Given the description of an element on the screen output the (x, y) to click on. 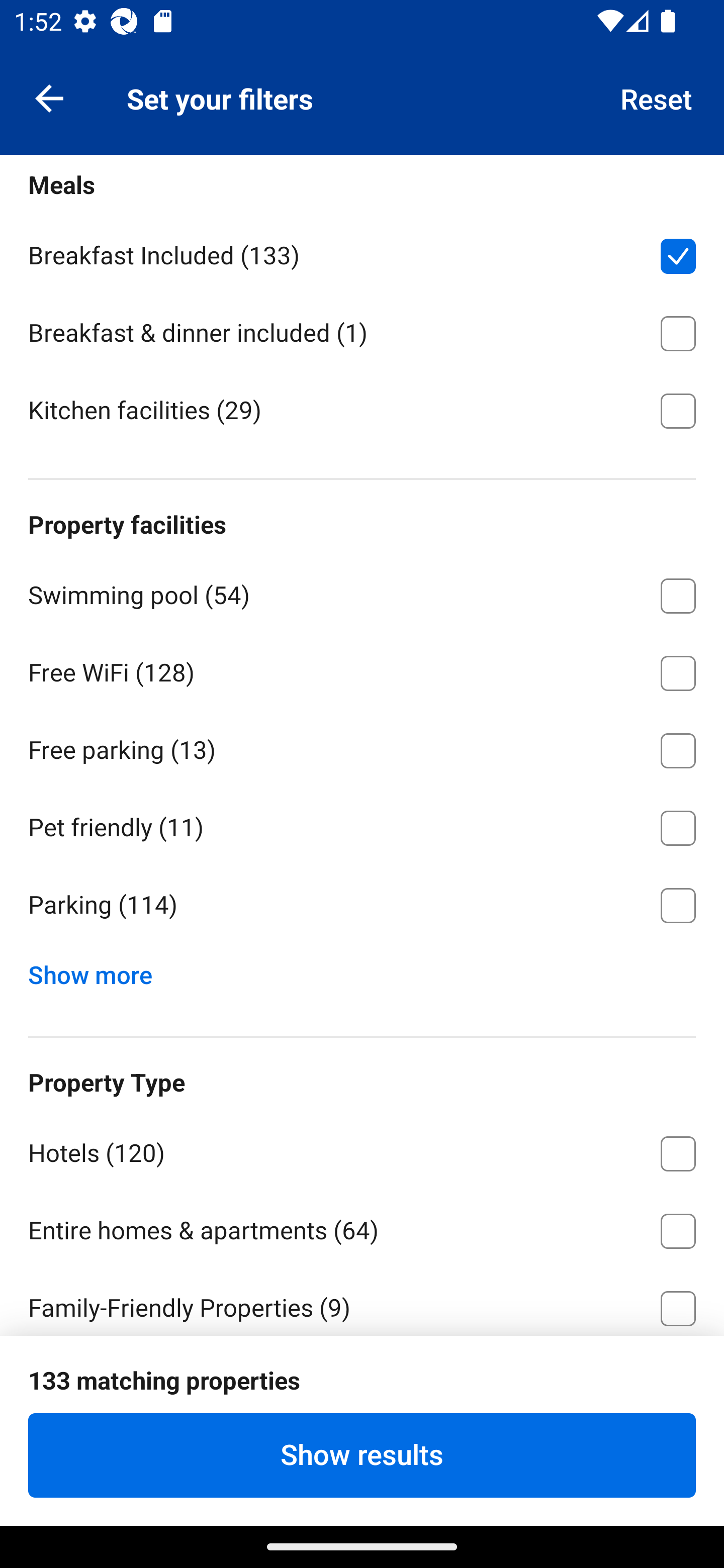
Navigate up (49, 97)
Reset (656, 97)
Breakfast Included ⁦(133) (361, 252)
Breakfast & dinner included ⁦(1) (361, 329)
Kitchen facilities ⁦(29) (361, 409)
Swimming pool ⁦(54) (361, 592)
Free WiFi ⁦(128) (361, 669)
Free parking ⁦(13) (361, 746)
Pet friendly ⁦(11) (361, 824)
Parking ⁦(114) (361, 905)
Show more (97, 971)
Hotels ⁦(120) (361, 1149)
Entire homes & apartments ⁦(64) (361, 1227)
Family-Friendly Properties ⁦(9) (361, 1300)
Cabins ⁦(1) (361, 1381)
Show results (361, 1454)
